Given the description of an element on the screen output the (x, y) to click on. 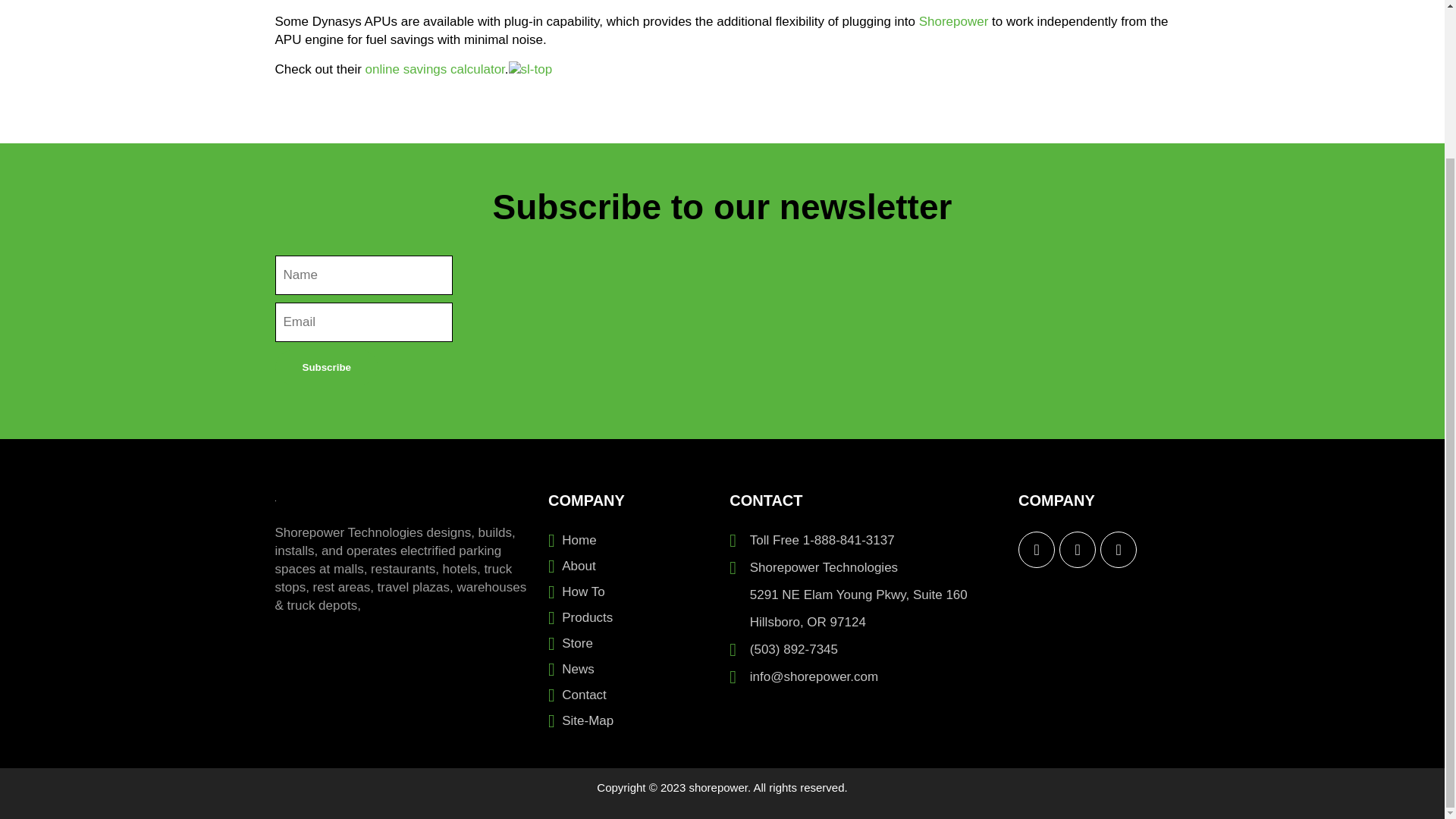
Subscribe (326, 366)
